Given the description of an element on the screen output the (x, y) to click on. 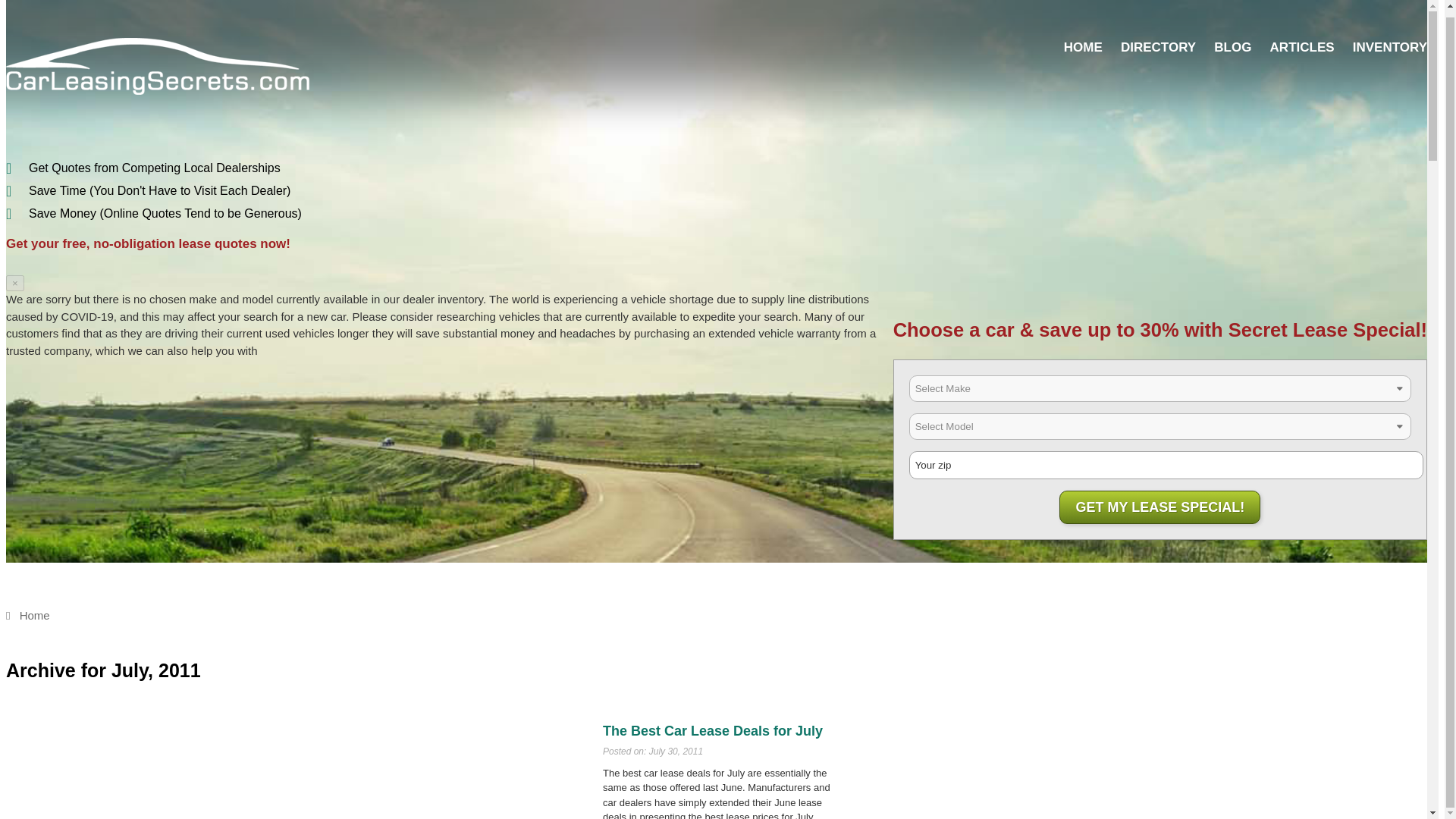
BLOG (1232, 47)
ARTICLES (1302, 47)
Get your free, no-obligation lease quotes now! (147, 243)
HOME (1083, 47)
Get My Lease Special! (1159, 507)
DIRECTORY (1158, 47)
Home (27, 615)
Permanent Link to The Best Car Lease Deals for July (712, 730)
The Best Car Lease Deals for July (712, 730)
Get My Lease Special! (1159, 507)
